Given the description of an element on the screen output the (x, y) to click on. 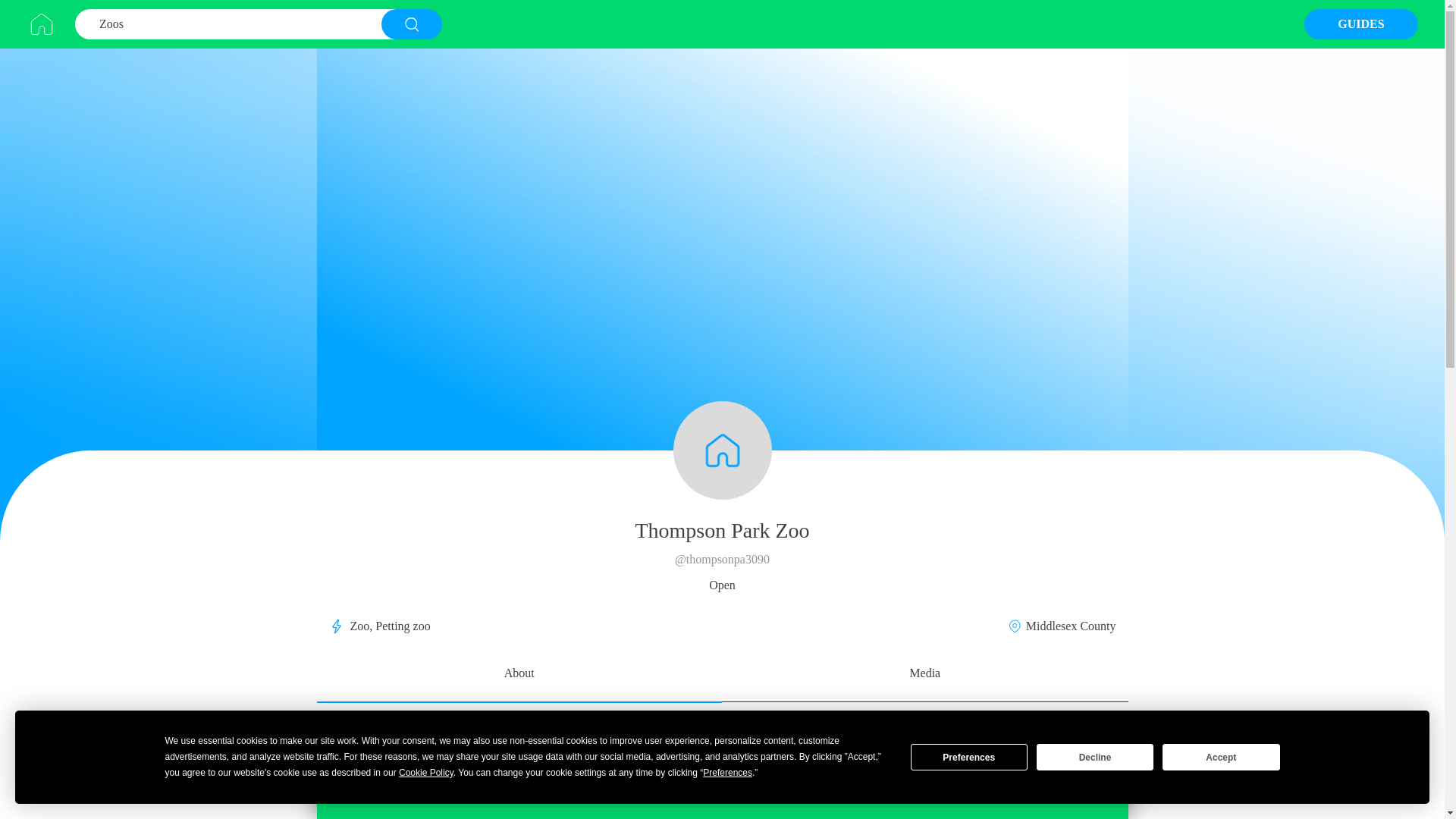
GUIDES (1361, 24)
Decline (1094, 756)
Accept (1220, 756)
Media (924, 675)
Preferences (969, 756)
About (519, 675)
